Given the description of an element on the screen output the (x, y) to click on. 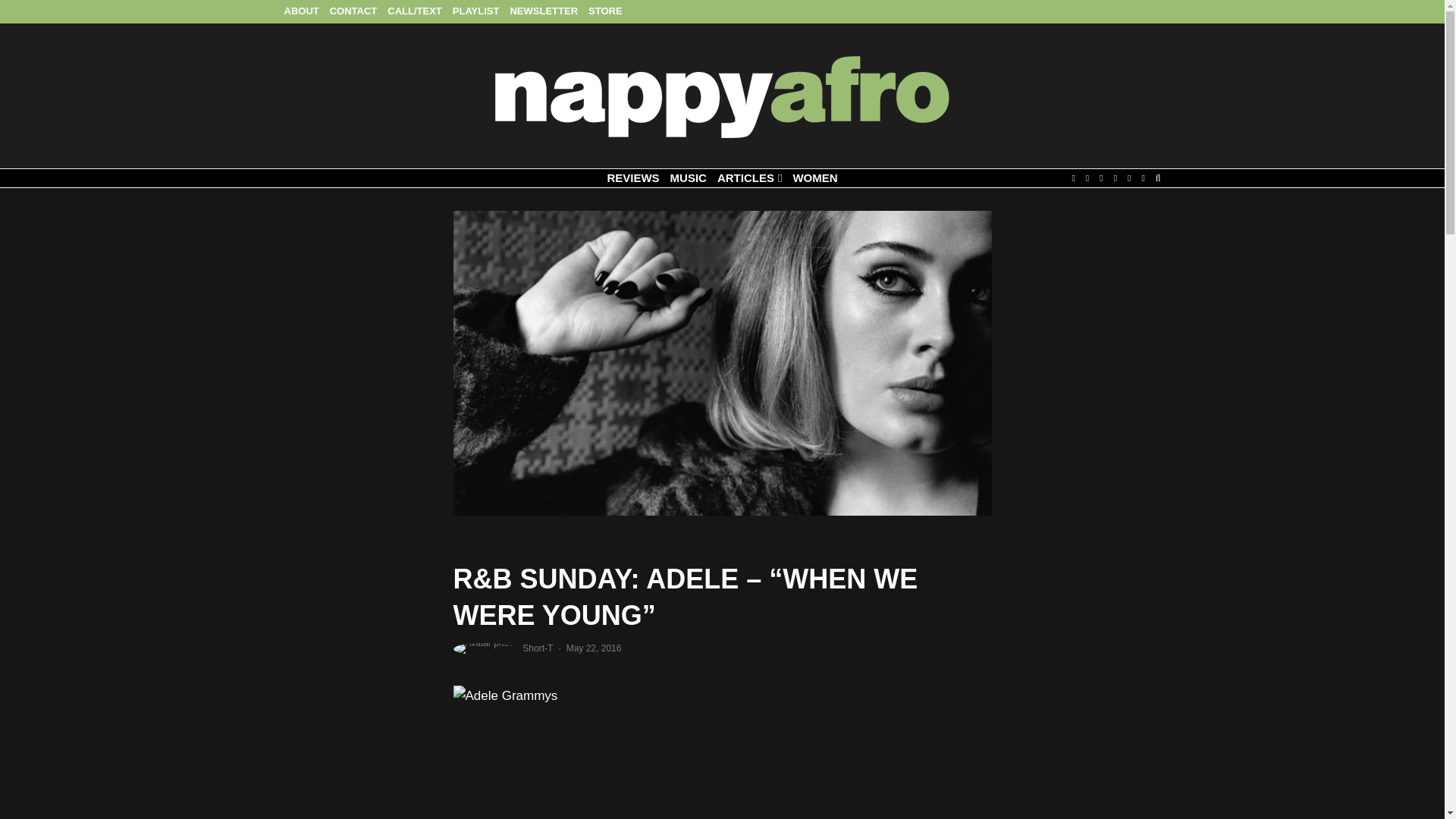
STORE (605, 11)
REVIEWS (632, 178)
MUSIC (688, 178)
PLAYLIST (475, 11)
CONTACT (353, 11)
ARTICLES (749, 178)
ABOUT (301, 11)
NEWSLETTER (543, 11)
Posts by Short-T (537, 647)
